Given the description of an element on the screen output the (x, y) to click on. 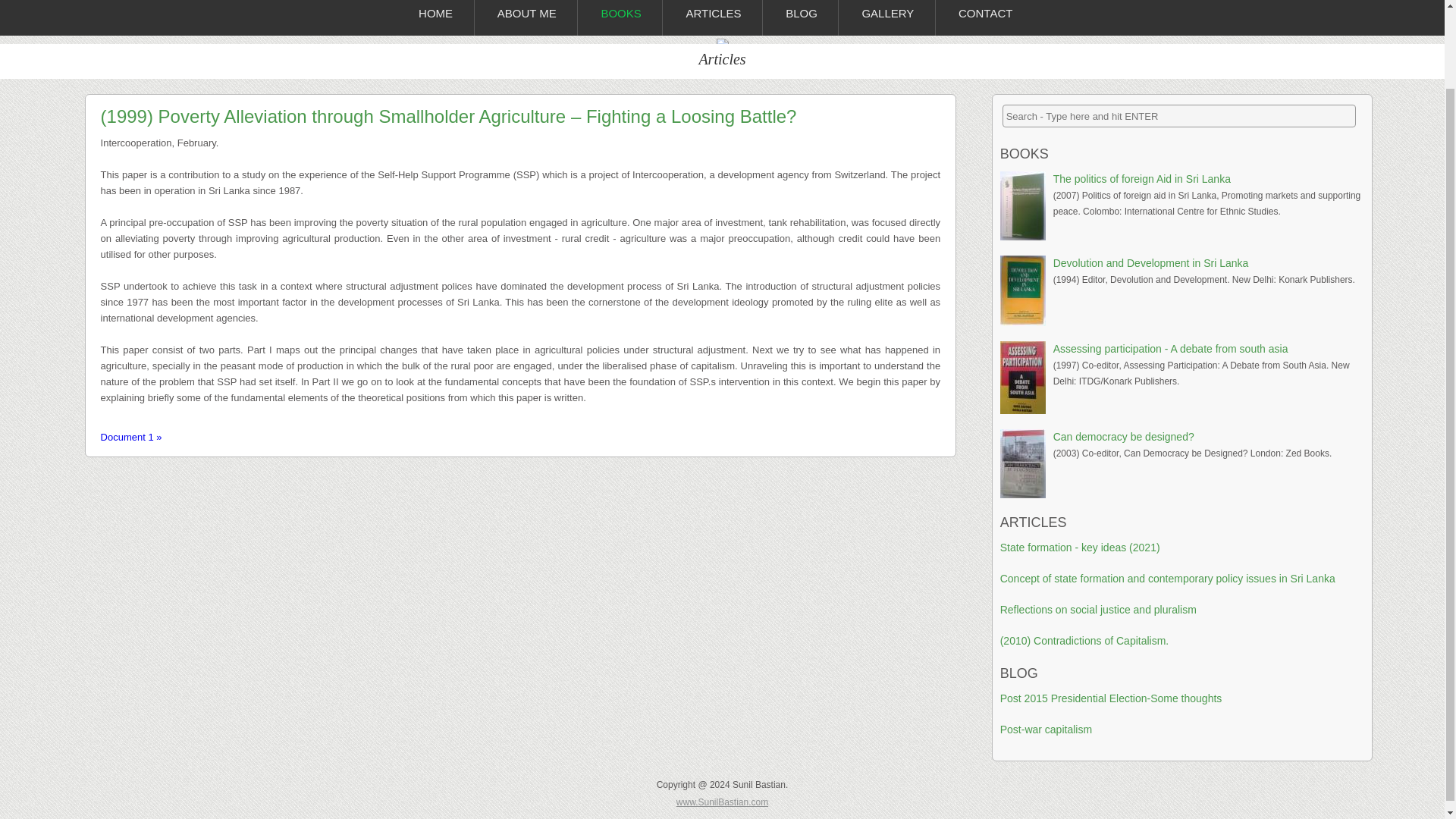
GALLERY (887, 18)
ARTICLES (712, 18)
BOOKS (1024, 153)
Devolution and Development in Sri Lanka (1150, 263)
ARTICLES (1033, 522)
CONTACT (984, 18)
Can democracy be designed? (1122, 436)
Post-war capitalism (1046, 729)
Post 2015 Presidential Election-Some thoughts (1111, 698)
BLOG (1019, 672)
ABOUT ME (526, 18)
The politics of foreign Aid in Sri Lanka (1141, 178)
BOOKS (619, 18)
Reflections on social justice and pluralism (1098, 609)
BLOG (800, 18)
